Given the description of an element on the screen output the (x, y) to click on. 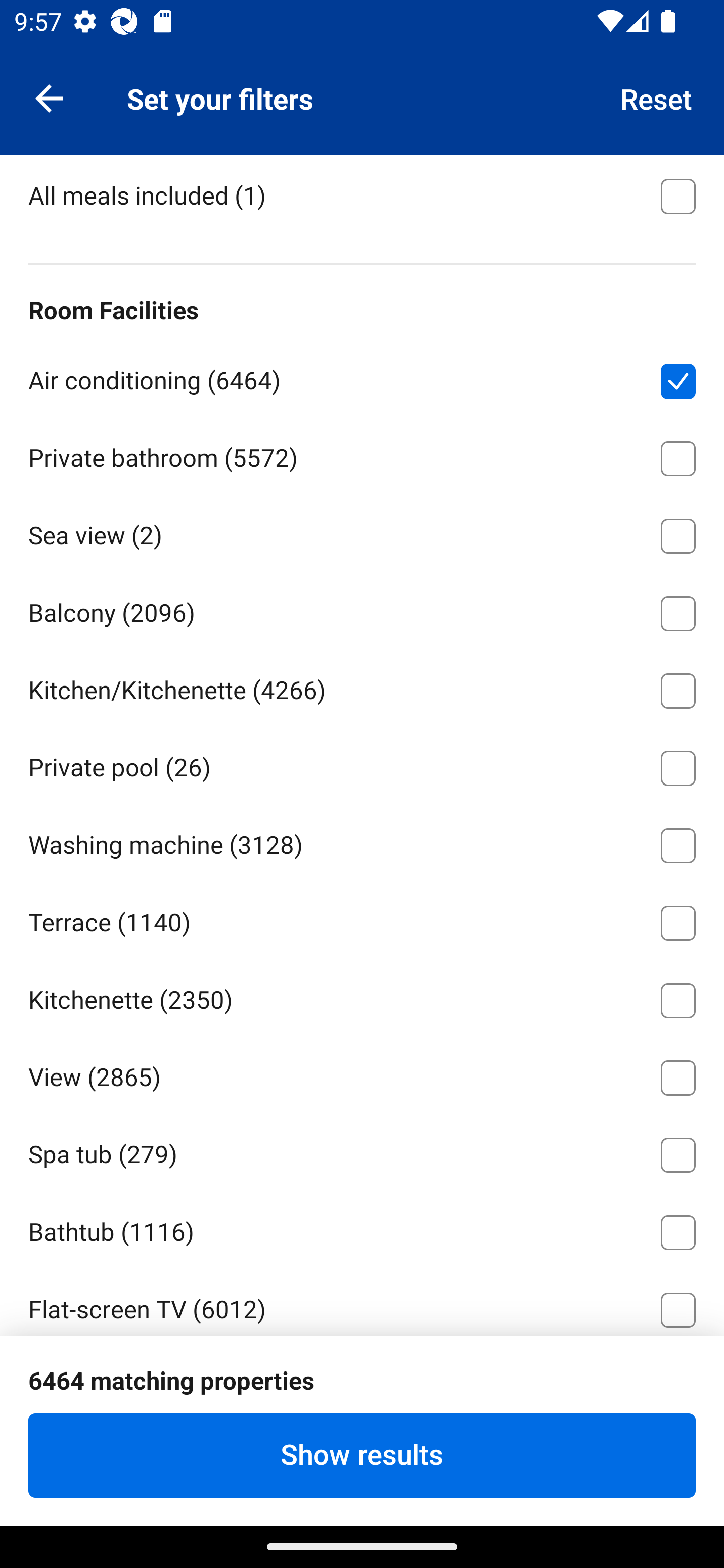
Navigate up (49, 97)
Reset (656, 97)
Kitchen facilities ⁦(4266) (361, 114)
All meals included ⁦(1) (361, 195)
Air conditioning ⁦(6464) (361, 377)
Private bathroom ⁦(5572) (361, 455)
Sea view ⁦(2) (361, 531)
Balcony ⁦(2096) (361, 609)
Kitchen/Kitchenette ⁦(4266) (361, 687)
Private pool ⁦(26) (361, 763)
Washing machine ⁦(3128) (361, 841)
Terrace ⁦(1140) (361, 919)
Kitchenette ⁦(2350) (361, 997)
View ⁦(2865) (361, 1074)
Spa tub ⁦(279) (361, 1151)
Bathtub ⁦(1116) (361, 1229)
Flat-screen TV ⁦(6012) (361, 1301)
Electric kettle ⁦(4072) (361, 1383)
Show results (361, 1454)
Coffee/Tea maker ⁦(5203) (361, 1461)
Patio ⁦(514) (361, 1534)
